Given the description of an element on the screen output the (x, y) to click on. 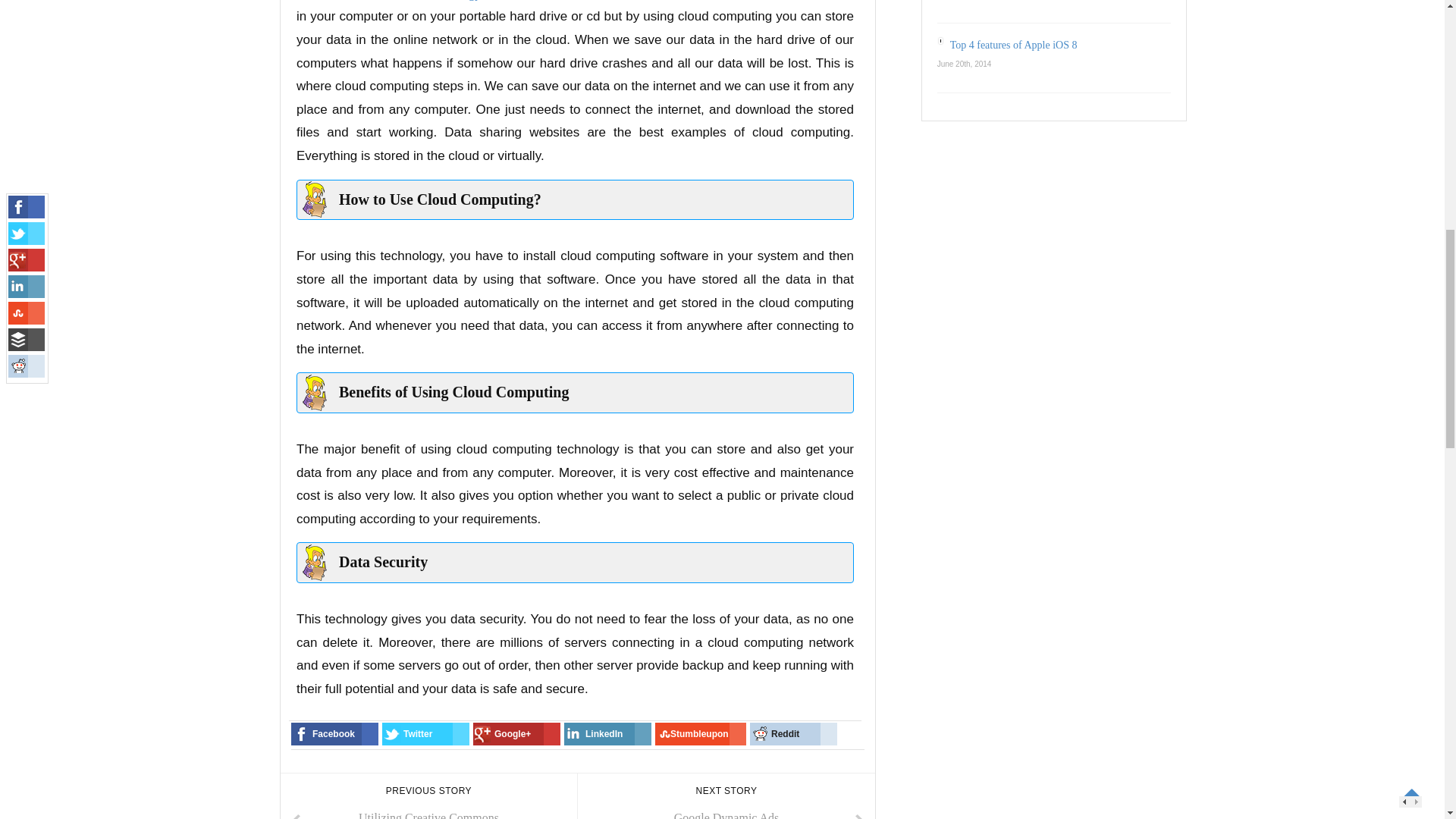
LinkedIn (726, 796)
Reddit (607, 733)
Facebook (793, 733)
Stumble it (334, 733)
Share on LinkedIn (700, 733)
10 Advanced Technologies of the 2000?s (607, 733)
Share on Twitter (452, 0)
technology (424, 733)
Twitter (452, 0)
Stumbleupon (424, 733)
